Given the description of an element on the screen output the (x, y) to click on. 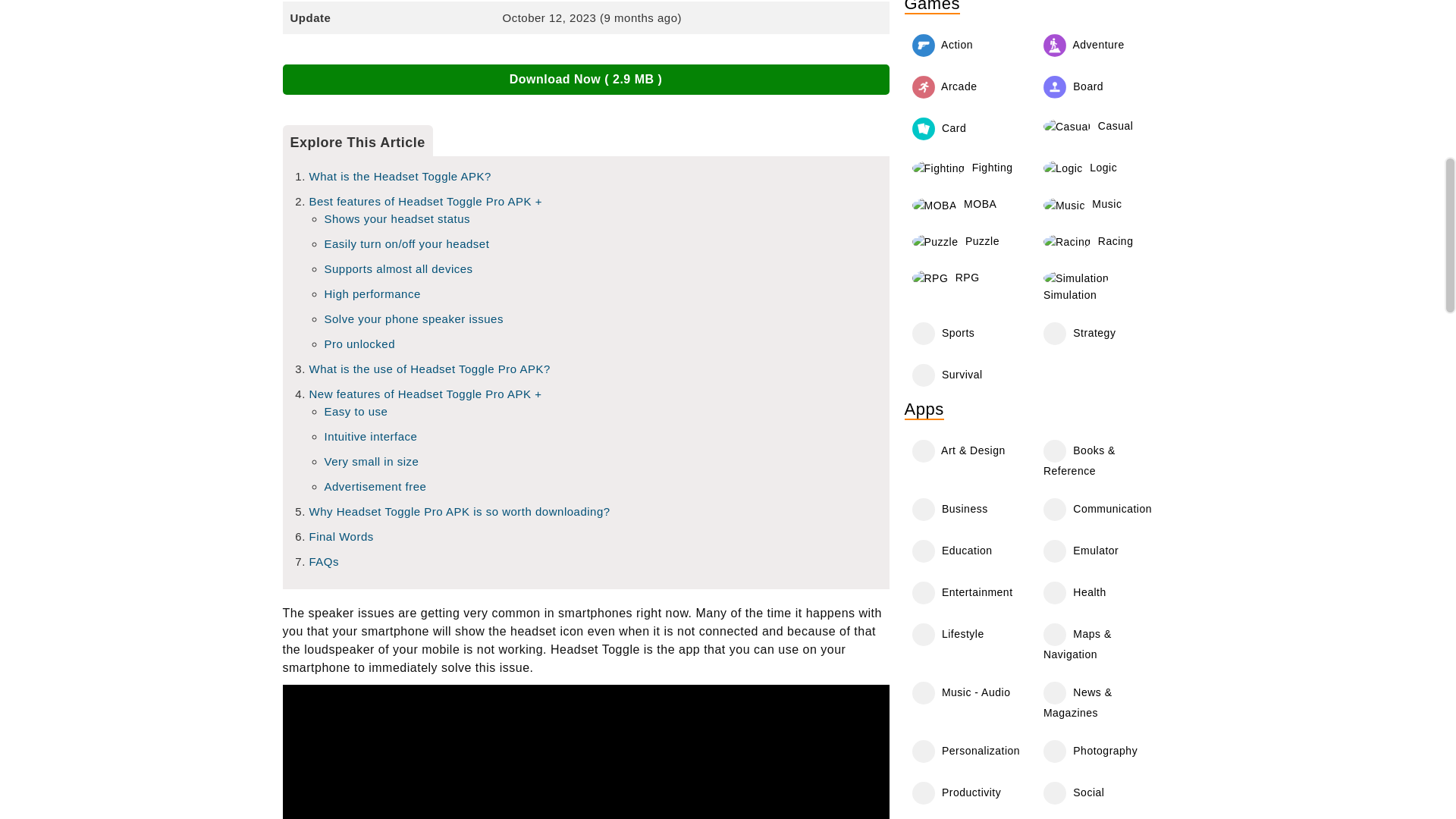
Supports almost all devices (398, 268)
Best features of Headset Toggle Pro APK (425, 201)
Why Headset Toggle Pro APK is so worth downloading? (459, 511)
FAQs (323, 561)
Intuitive interface (370, 436)
New features of Headset Toggle Pro APK (424, 393)
What is the Headset Toggle APK? (400, 175)
Easy to use (356, 410)
High performance (372, 293)
Very small in size (371, 461)
Shows your headset status (397, 218)
Pro unlocked (360, 343)
What is the use of Headset Toggle Pro APK? (429, 368)
Advertisement free (375, 486)
Solve your phone speaker issues (413, 318)
